Given the description of an element on the screen output the (x, y) to click on. 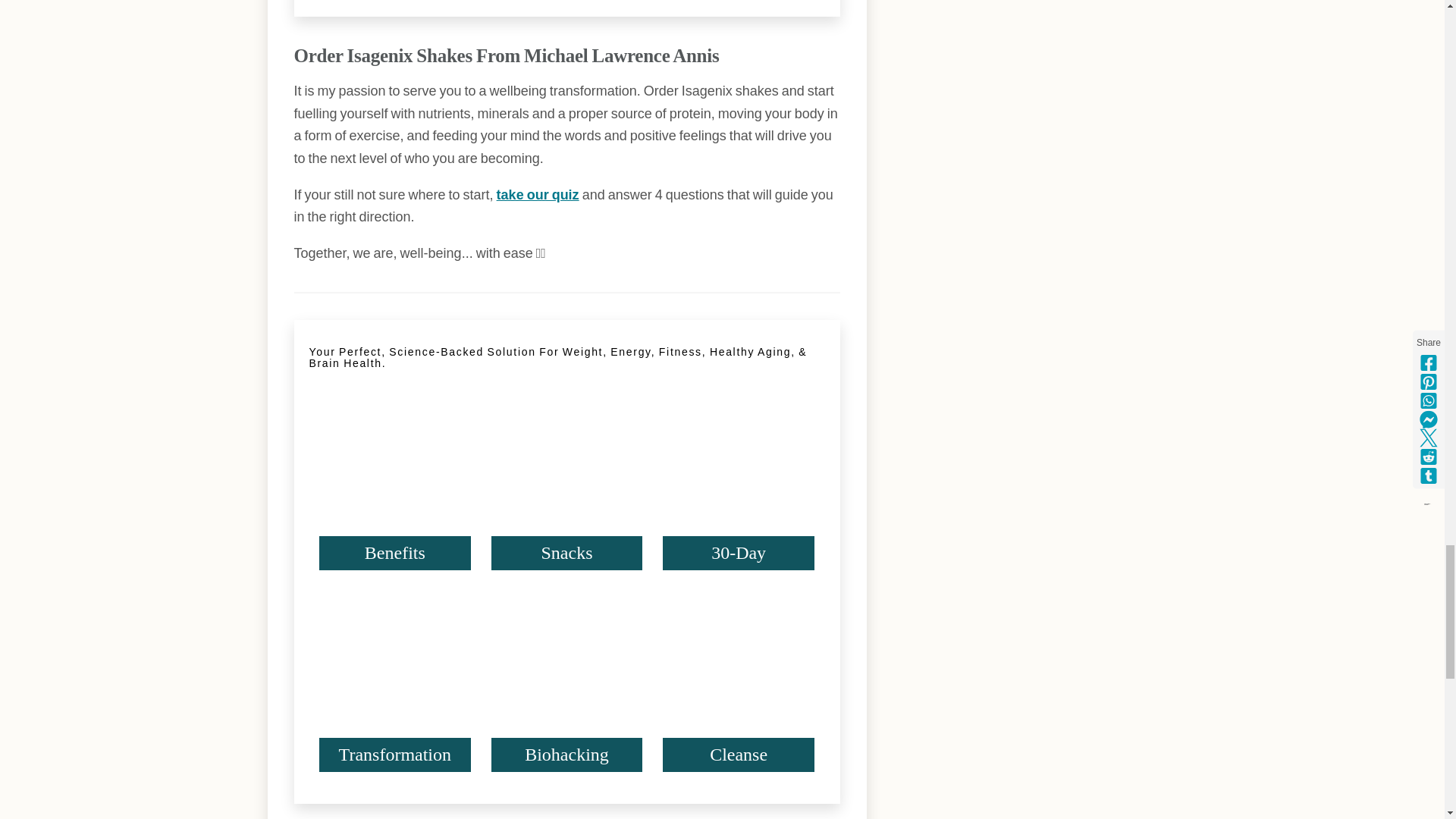
Go to Benefits of Isagenix Shakes: A Comprehensive Guide (394, 565)
Go to 30 Day Reset Diet: Revitalize Your Health with Ease (737, 565)
Go to Benefits of a Cleanse and Detox: Unveiling the Science (737, 767)
Isagenix Transformation Results Backed by Science (394, 696)
A woman in activewear stretching with a radiant sun graphic (737, 696)
What's inside the Isagenix 30-Day System? (737, 493)
